Given the description of an element on the screen output the (x, y) to click on. 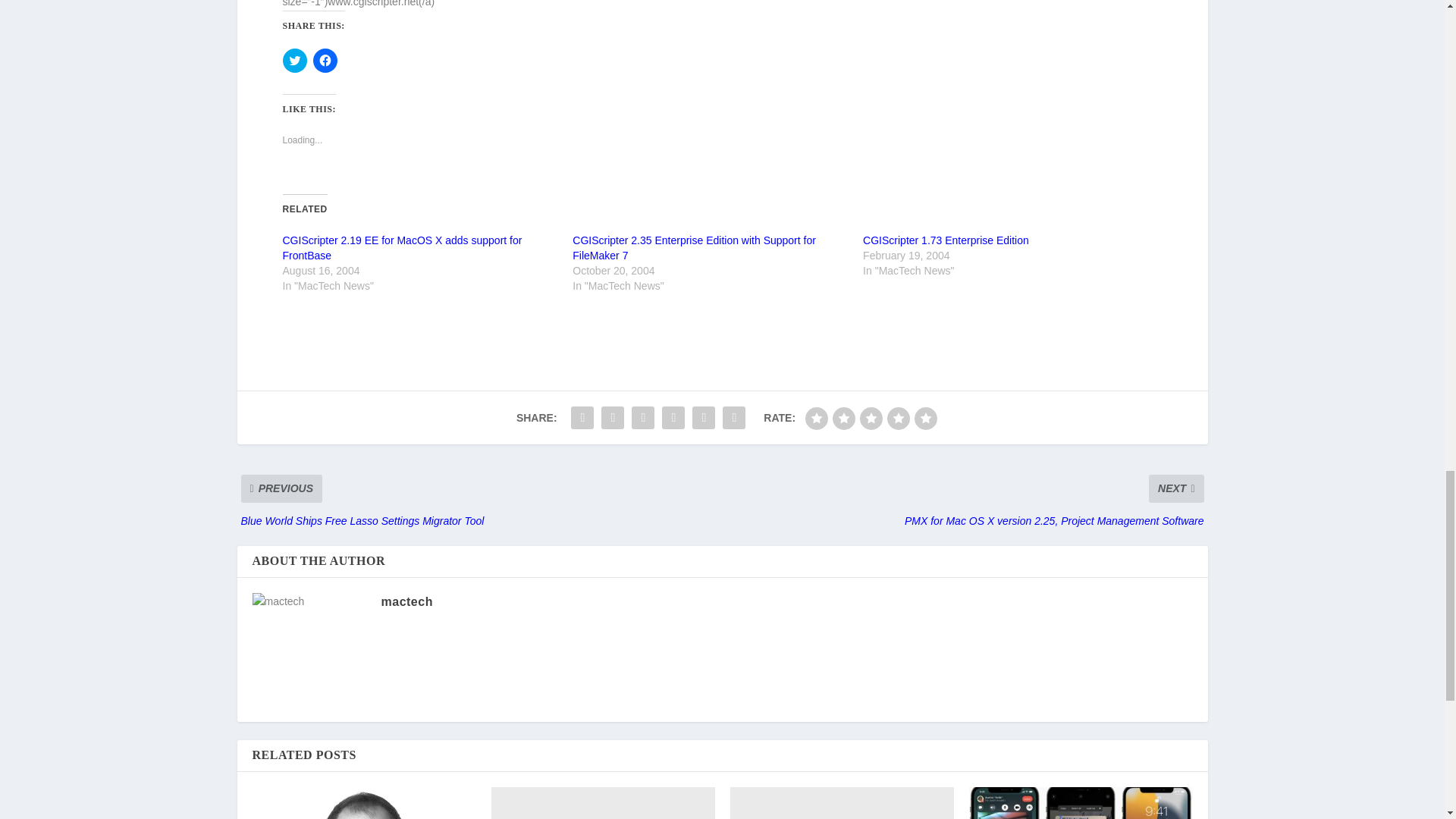
Share "CGIScripter 2.08 Enterprise Edition" via Stumbleupon (703, 417)
Click to share on Facebook (324, 60)
CGIScripter 2.19 EE for MacOS X adds support for FrontBase (401, 247)
CGIScripter 1.73 Enterprise Edition (946, 240)
Share "CGIScripter 2.08 Enterprise Edition" via Twitter (611, 417)
Share "CGIScripter 2.08 Enterprise Edition" via Tumblr (642, 417)
Click to share on Twitter (293, 60)
Share "CGIScripter 2.08 Enterprise Edition" via Facebook (581, 417)
Share "CGIScripter 2.08 Enterprise Edition" via Email (734, 417)
